Given the description of an element on the screen output the (x, y) to click on. 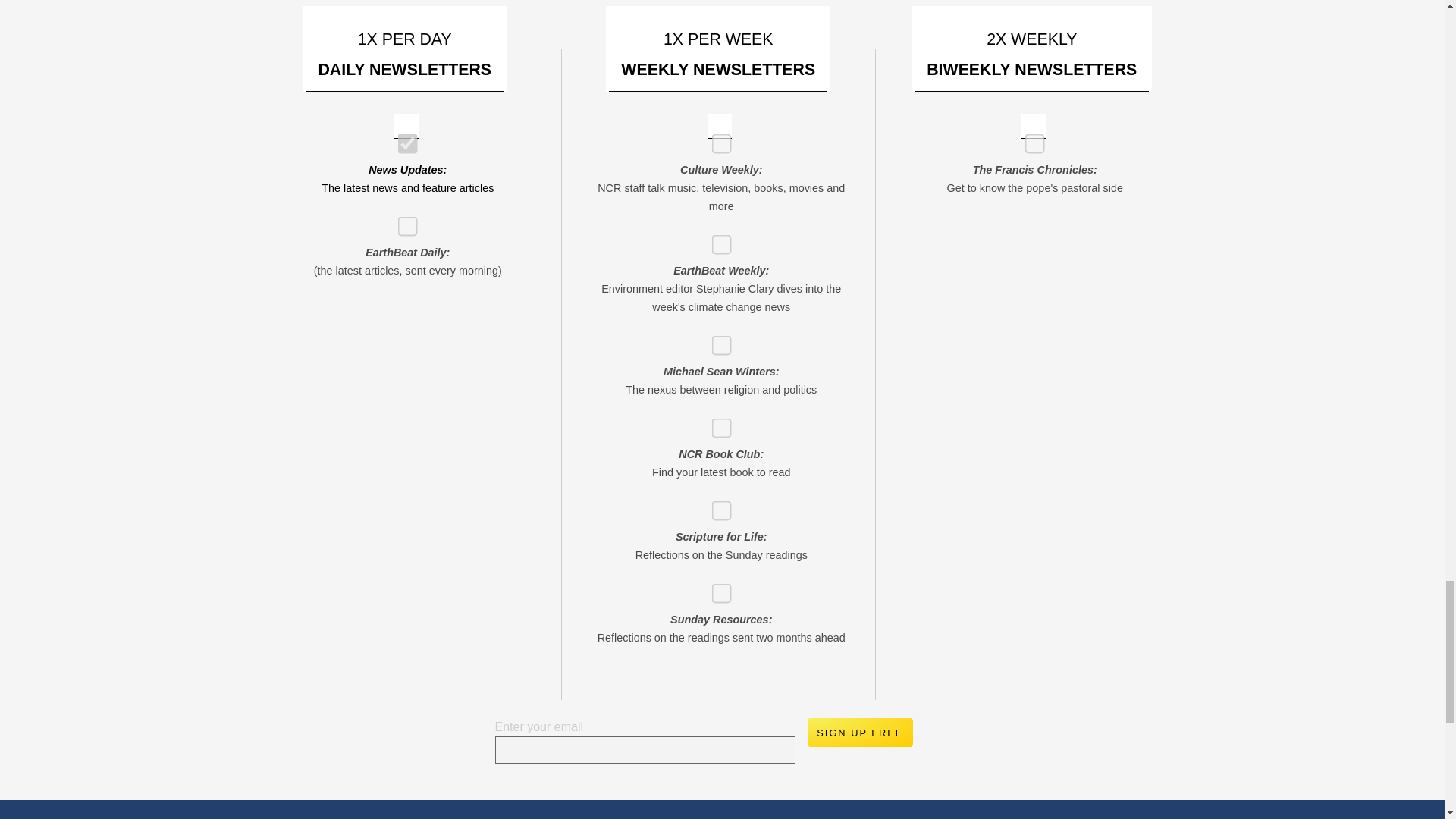
9b73e2ca65 (1030, 139)
e536af3ae2 (715, 139)
13ede0f40e (715, 423)
dfa4c56aff (715, 588)
efa1b974a2 (402, 221)
Sign up free (859, 732)
f86221b965 (402, 139)
c25324053e (715, 506)
ef6500f2d3 (715, 239)
3b77a4581e (715, 340)
